Given the description of an element on the screen output the (x, y) to click on. 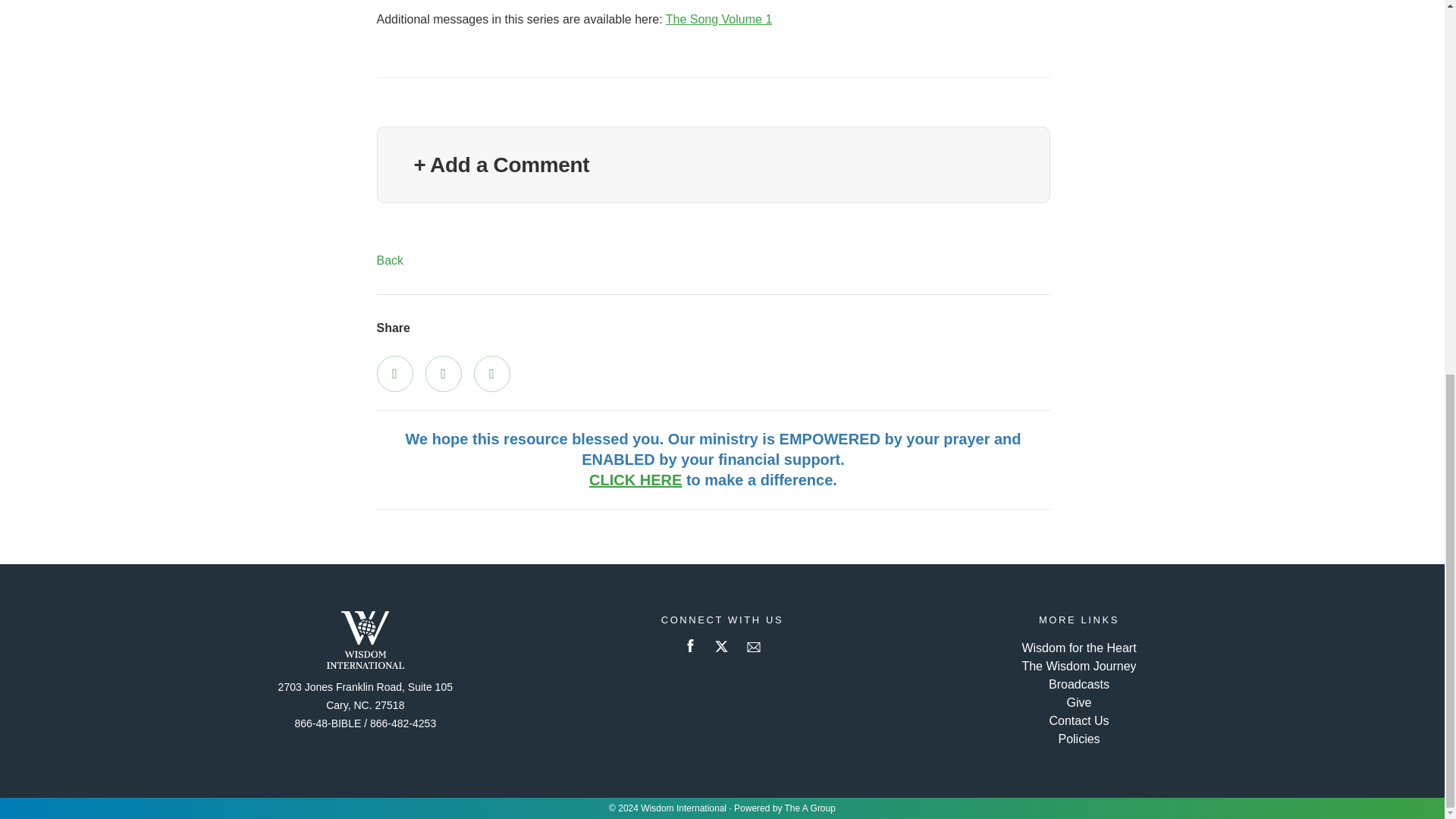
The Song Volume 1 (719, 19)
